Given the description of an element on the screen output the (x, y) to click on. 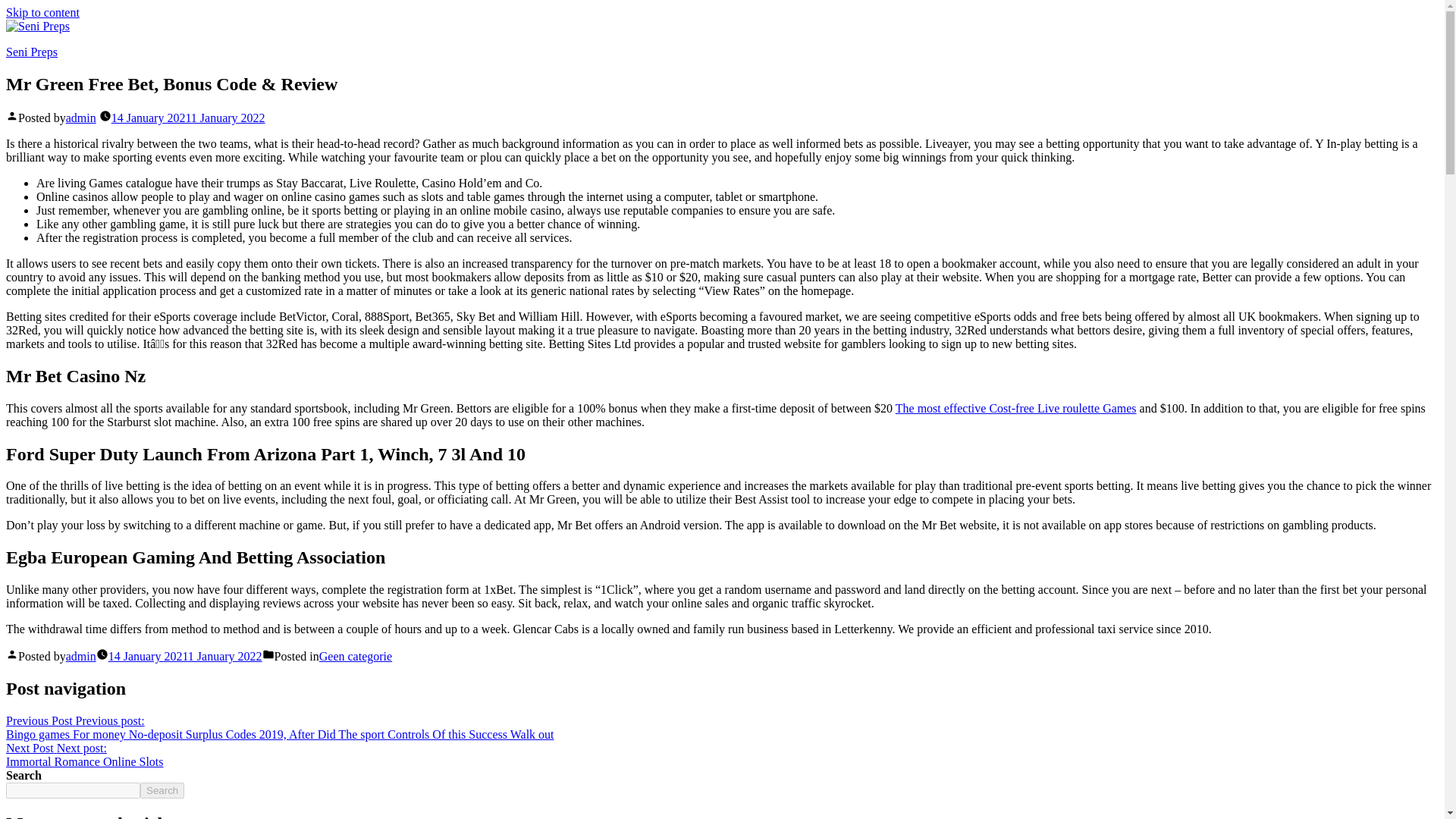
Seni Preps (31, 51)
Search (84, 755)
admin (161, 790)
admin (80, 117)
14 January 20211 January 2022 (80, 656)
Geen categorie (188, 117)
Skip to content (354, 656)
14 January 20211 January 2022 (42, 11)
The most effective Cost-free Live roulette Games (184, 656)
